Given the description of an element on the screen output the (x, y) to click on. 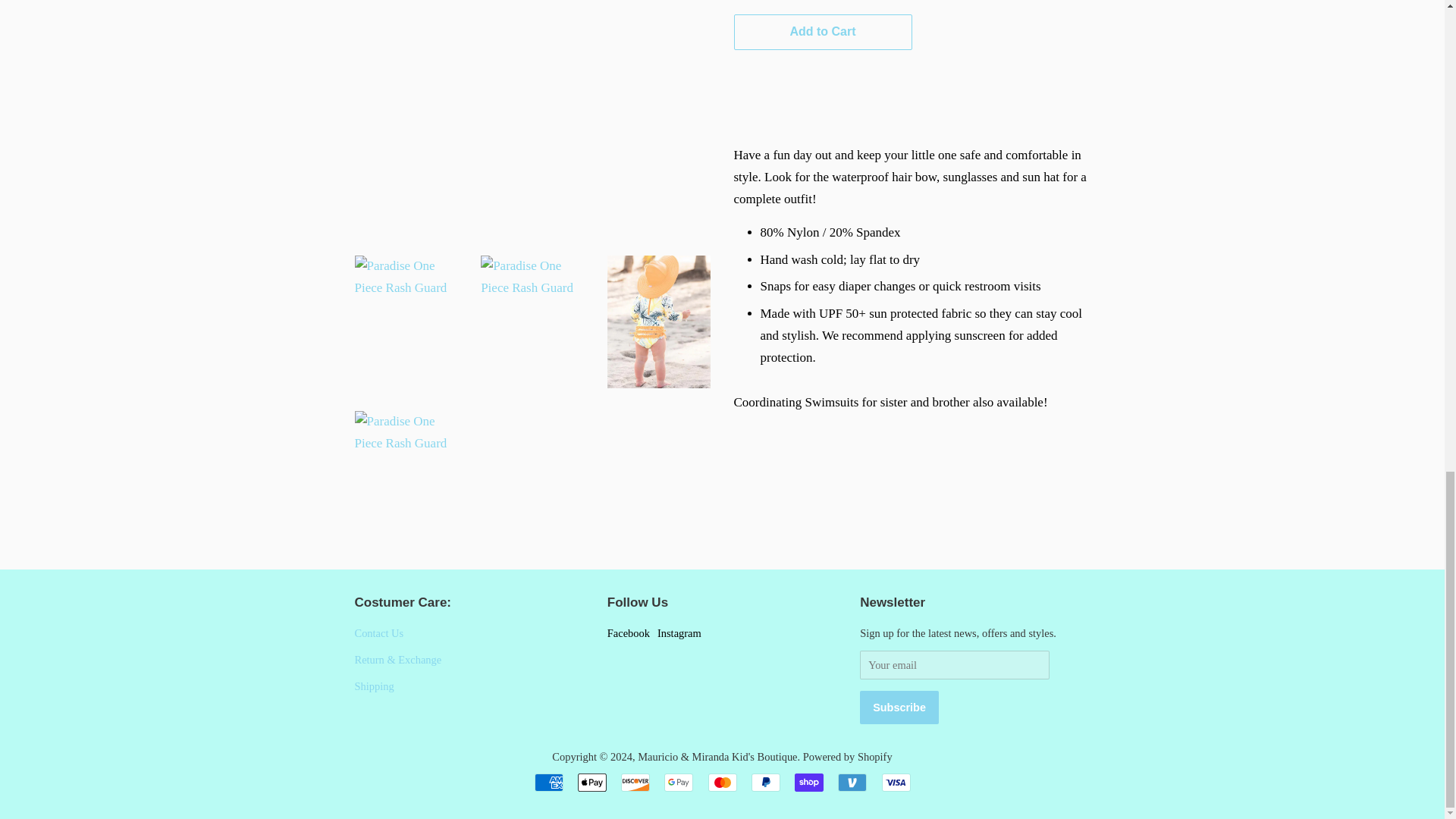
Shop Pay (809, 782)
CONTACT US (379, 633)
Venmo (852, 782)
Subscribe (899, 707)
Google Pay (678, 782)
Apple Pay (592, 782)
American Express (548, 782)
PayPal (765, 782)
Visa (895, 782)
Mastercard (721, 782)
SHIPPING (374, 686)
Discover (635, 782)
